Given the description of an element on the screen output the (x, y) to click on. 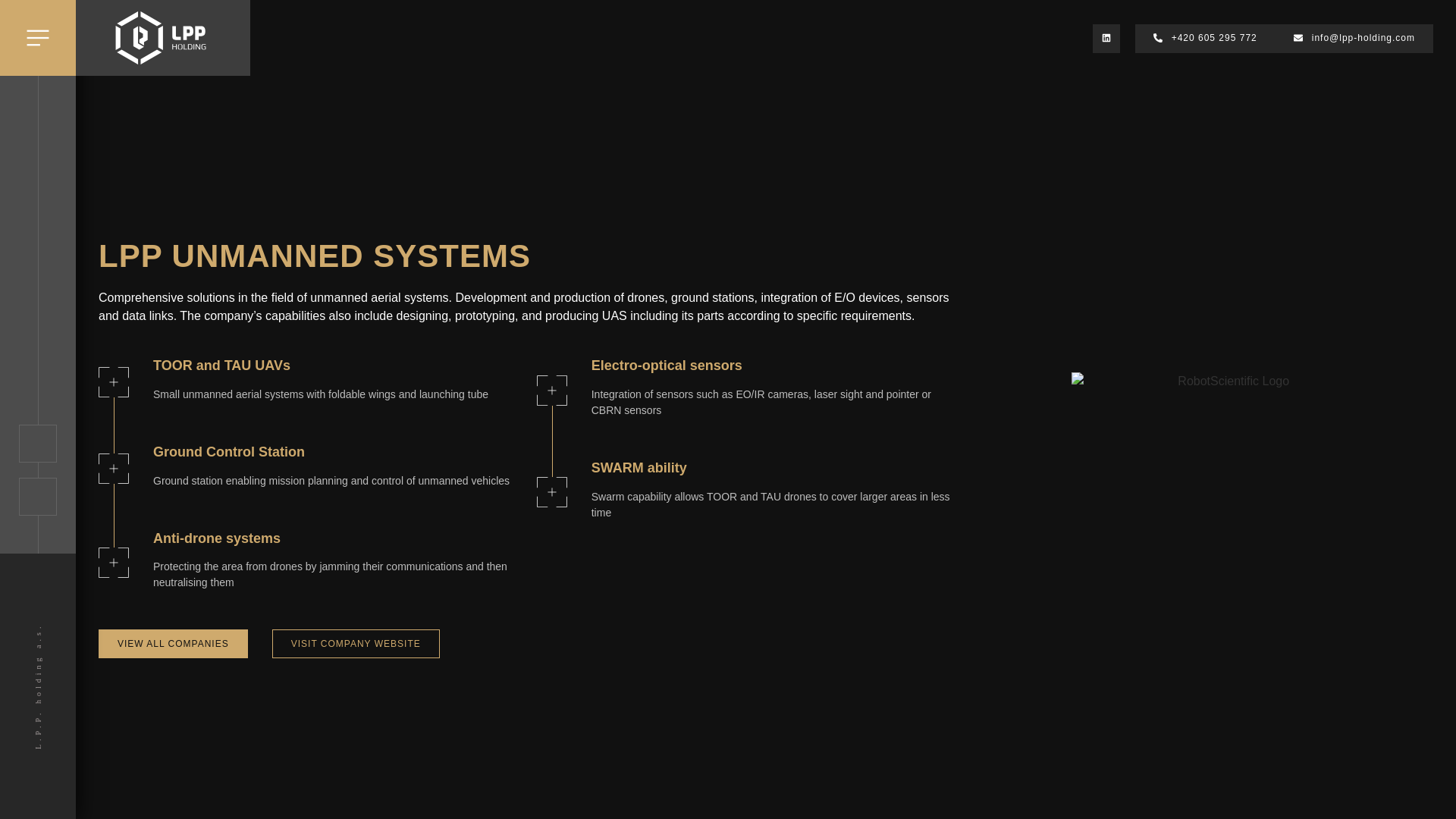
VIEW ALL COMPANIES (173, 643)
LPP-Holding-logo-white-crop (160, 37)
VISIT COMPANY WEBSITE (355, 643)
